Given the description of an element on the screen output the (x, y) to click on. 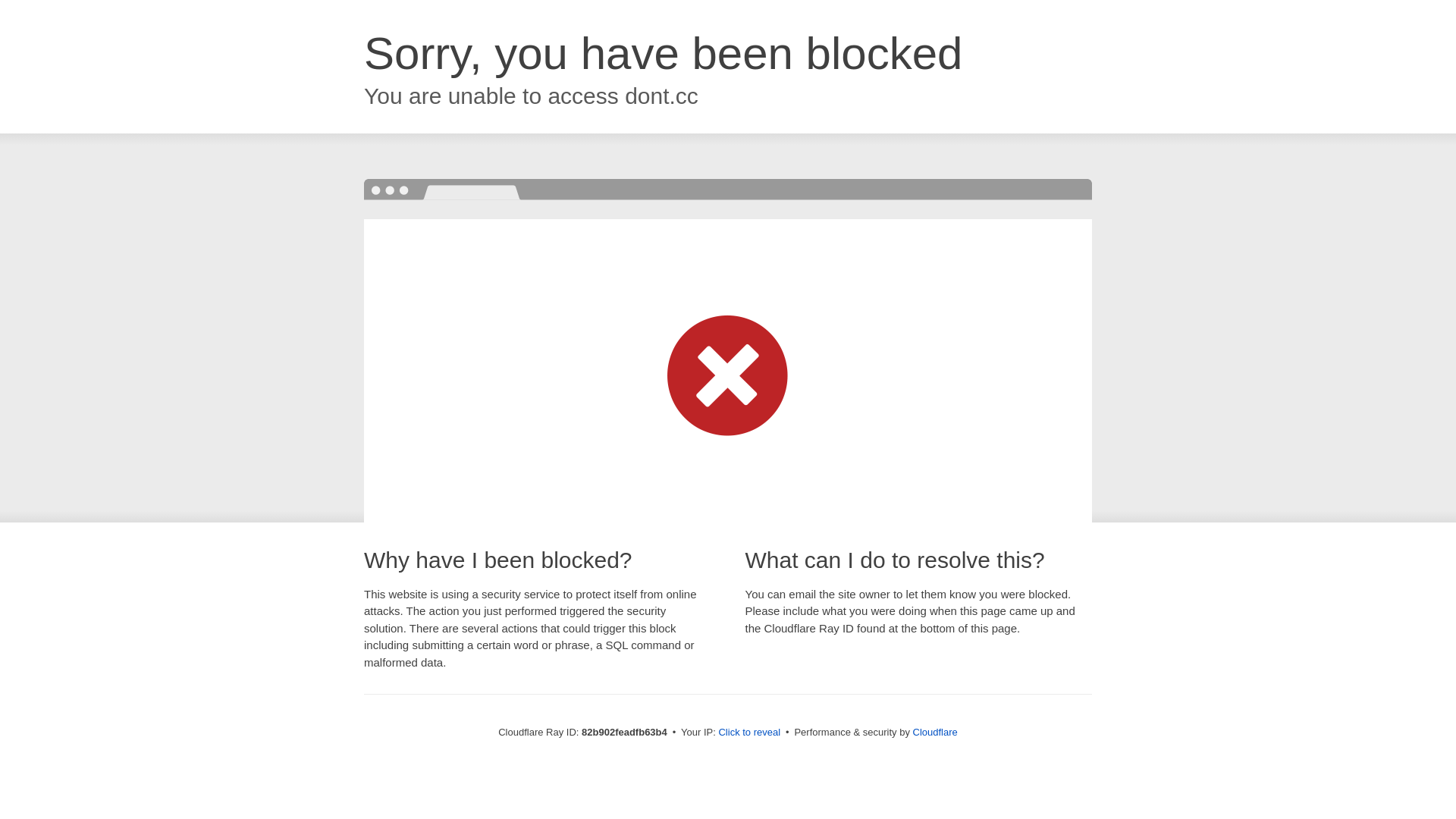
Click to reveal Element type: text (749, 732)
Cloudflare Element type: text (935, 731)
